Given the description of an element on the screen output the (x, y) to click on. 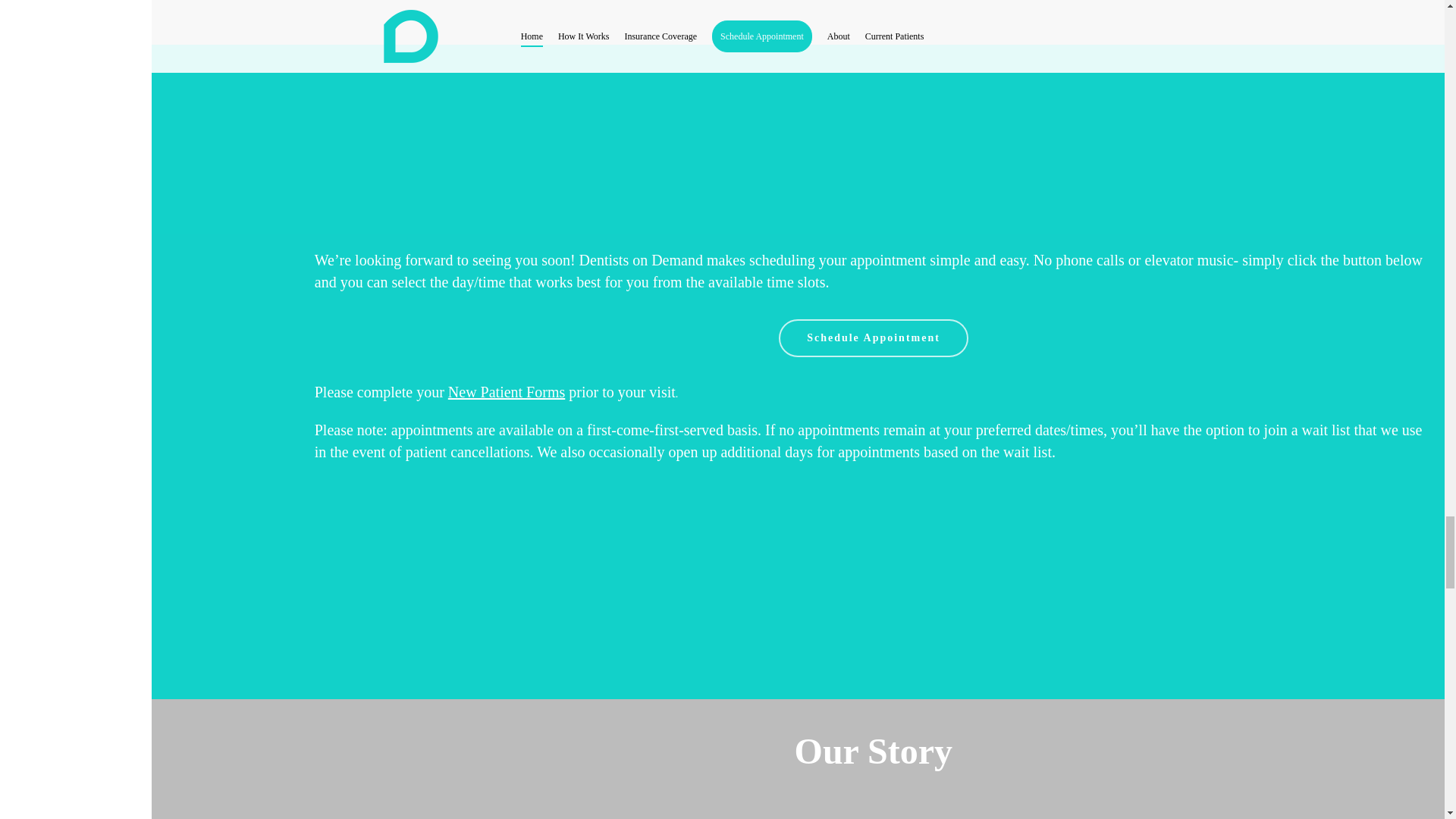
New Patient Forms (506, 392)
Schedule Appointment (873, 338)
